Given the description of an element on the screen output the (x, y) to click on. 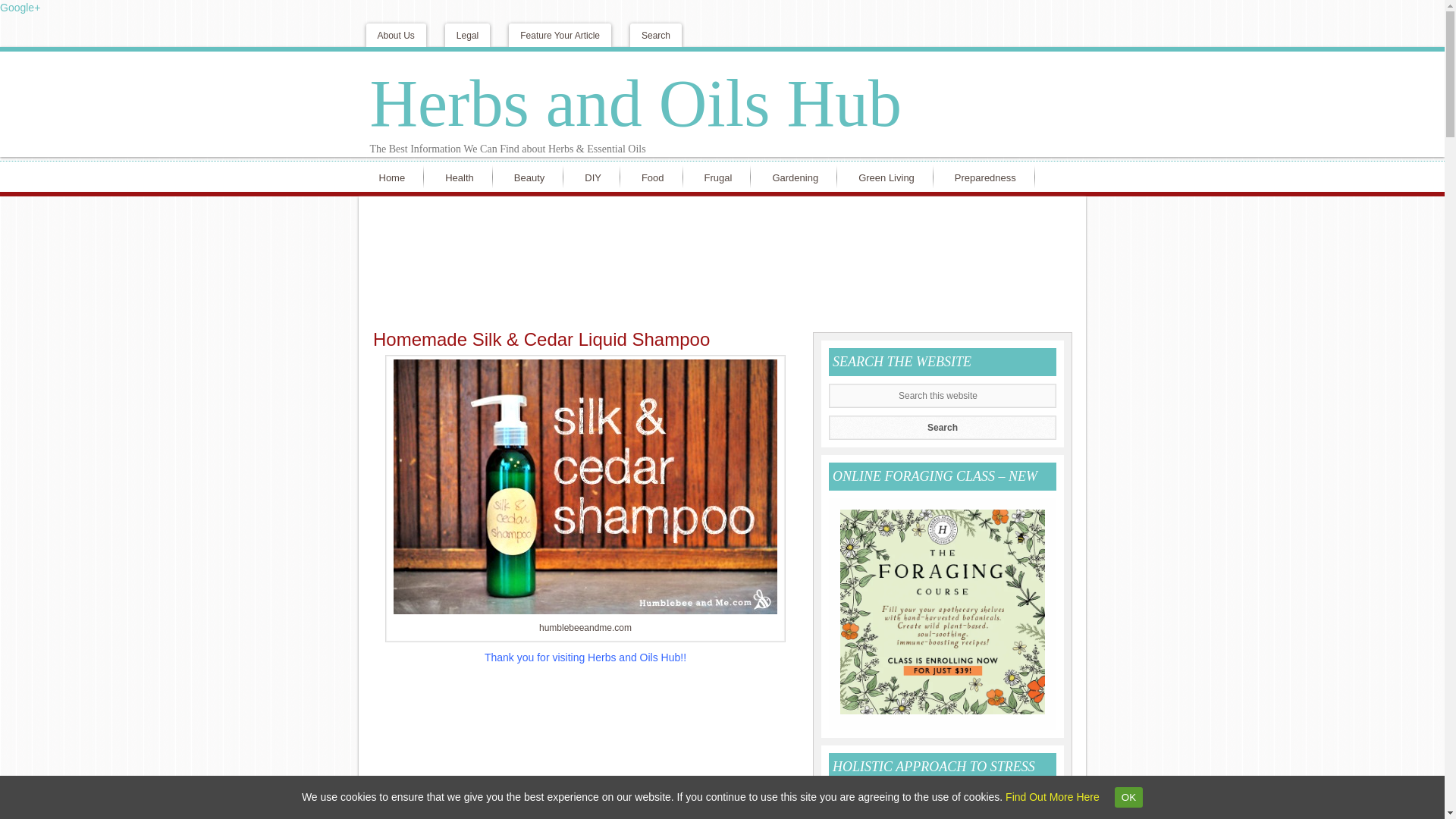
Home (395, 176)
Green Living (889, 176)
Gardening (798, 176)
Frugal (721, 176)
Health (462, 176)
Search (942, 427)
Search (942, 427)
Feature Your Article (559, 34)
Preparedness (988, 176)
Advertisement (584, 746)
Herbs and Oils Hub (635, 103)
Search (942, 427)
Beauty (532, 176)
About Us (395, 34)
DIY (596, 176)
